Given the description of an element on the screen output the (x, y) to click on. 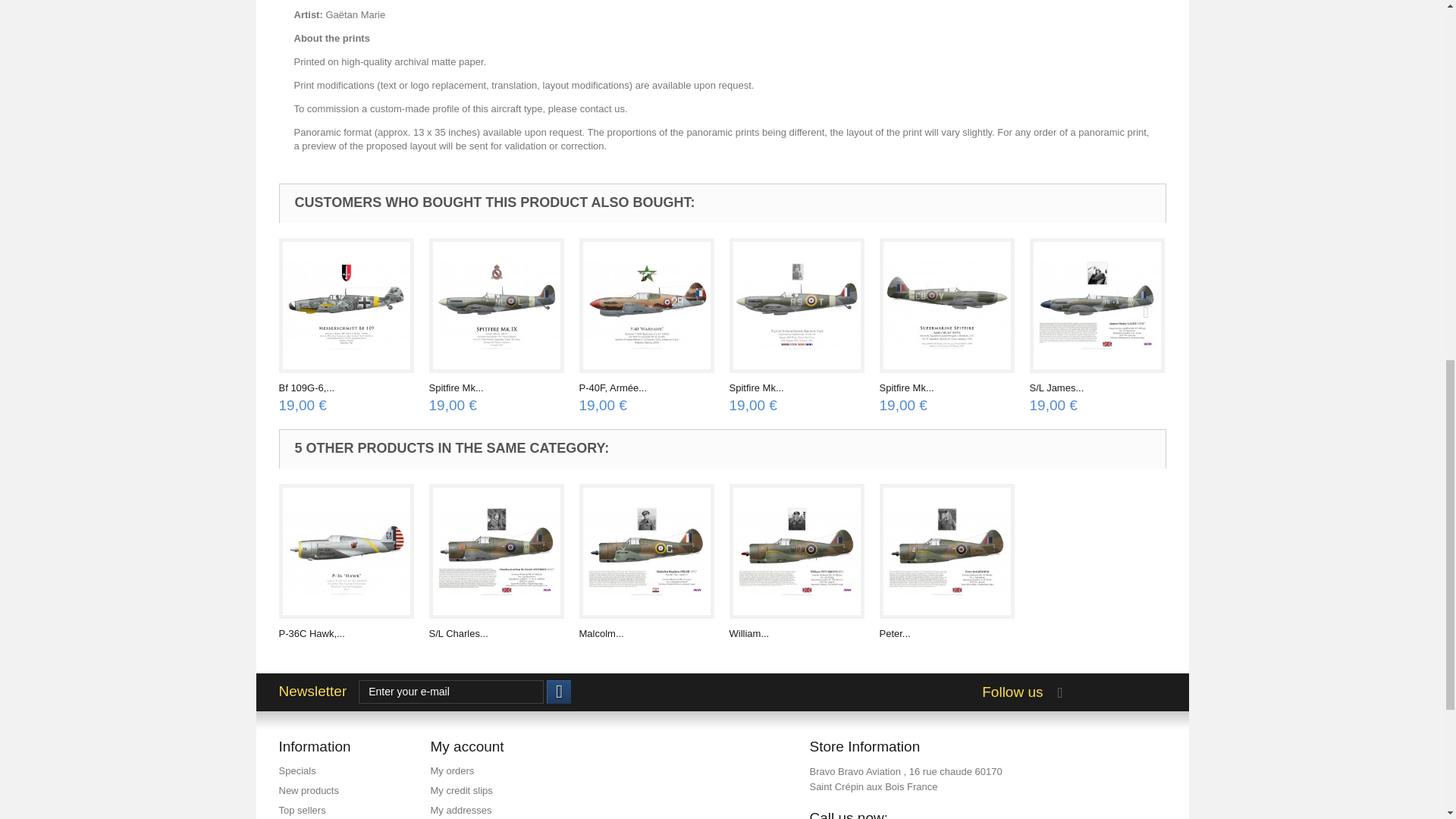
Spitfire Mk... (456, 387)
Enter your e-mail (450, 691)
Spitfire Mk... (756, 387)
Bf 109G-6,... (306, 387)
